Given the description of an element on the screen output the (x, y) to click on. 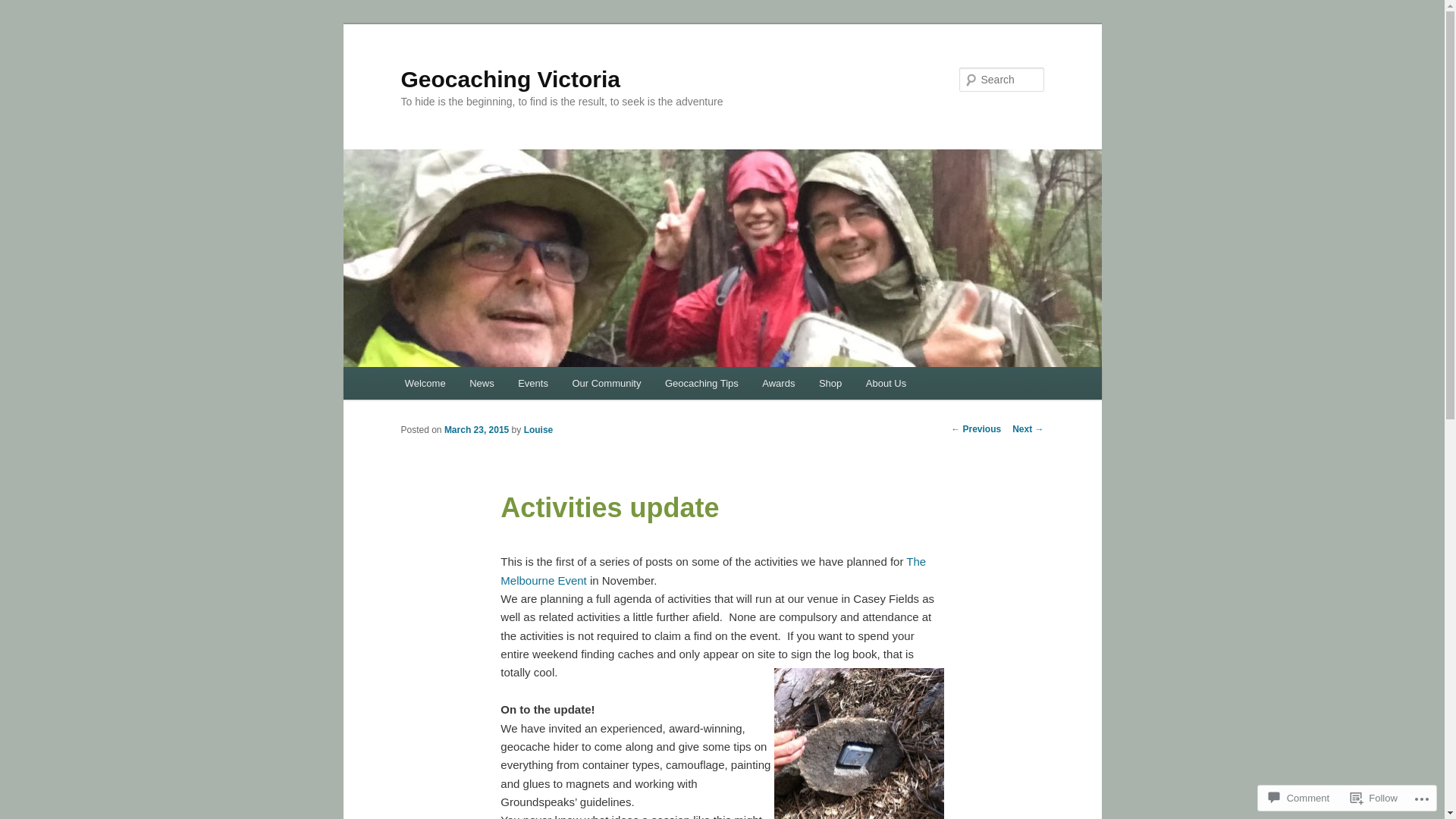
About Us Element type: text (885, 383)
Geocaching Tips Element type: text (700, 383)
Shop Element type: text (829, 383)
Follow Element type: text (1373, 797)
News Element type: text (481, 383)
The Melbourne Event Element type: text (712, 570)
Awards Element type: text (778, 383)
Skip to primary content Element type: text (22, 22)
Our Community Element type: text (606, 383)
Events Element type: text (532, 383)
Comment Element type: text (1298, 797)
Welcome Element type: text (424, 383)
Louise Element type: text (538, 429)
Search Element type: text (24, 8)
Geocaching Victoria Element type: text (510, 78)
March 23, 2015 Element type: text (476, 429)
